Given the description of an element on the screen output the (x, y) to click on. 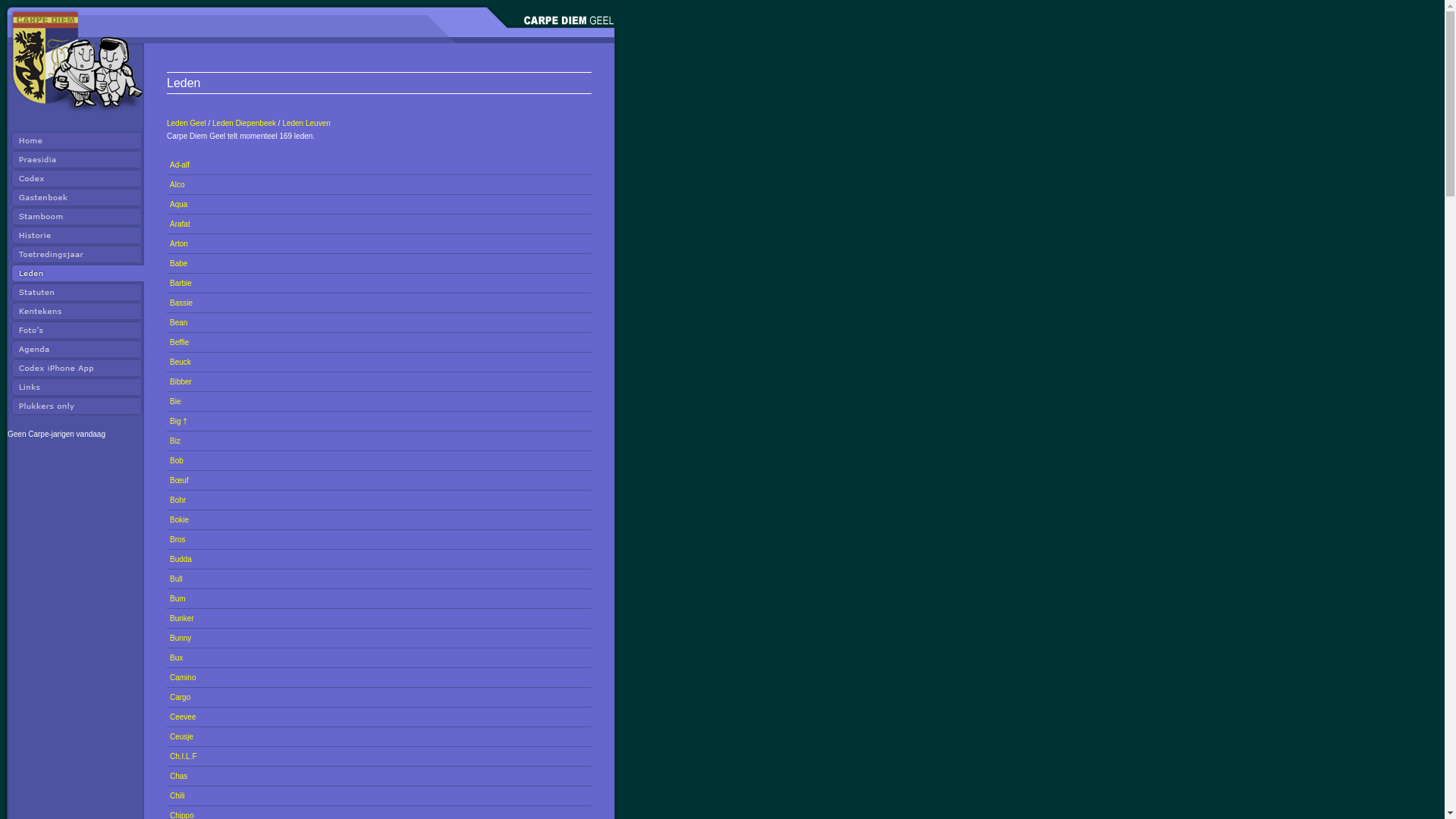
Beuck Element type: text (180, 361)
Bean Element type: text (178, 322)
Bum Element type: text (177, 598)
Ceevee Element type: text (182, 716)
Bassie Element type: text (180, 302)
Chili Element type: text (176, 795)
Alco Element type: text (176, 184)
Arafat Element type: text (179, 223)
Arton Element type: text (178, 243)
Leden Geel Element type: text (186, 123)
Chas Element type: text (178, 775)
Bros Element type: text (177, 539)
Cargo Element type: text (179, 697)
Budda Element type: text (180, 559)
Ch.I.L.F Element type: text (183, 756)
Bob Element type: text (176, 460)
Bokie Element type: text (178, 519)
Bibber Element type: text (180, 381)
Bunker Element type: text (181, 618)
Camino Element type: text (182, 677)
Ad-alf Element type: text (179, 164)
Bohr Element type: text (177, 499)
Bunny Element type: text (180, 637)
Barbie Element type: text (180, 283)
Biz Element type: text (174, 440)
Bull Element type: text (175, 578)
Aqua Element type: text (178, 204)
Beffie Element type: text (178, 342)
Bie Element type: text (174, 401)
Leden Leuven Element type: text (305, 123)
Leden Diepenbeek Element type: text (244, 123)
Bux Element type: text (175, 657)
Babe Element type: text (178, 263)
Ceusje Element type: text (181, 736)
